Given the description of an element on the screen output the (x, y) to click on. 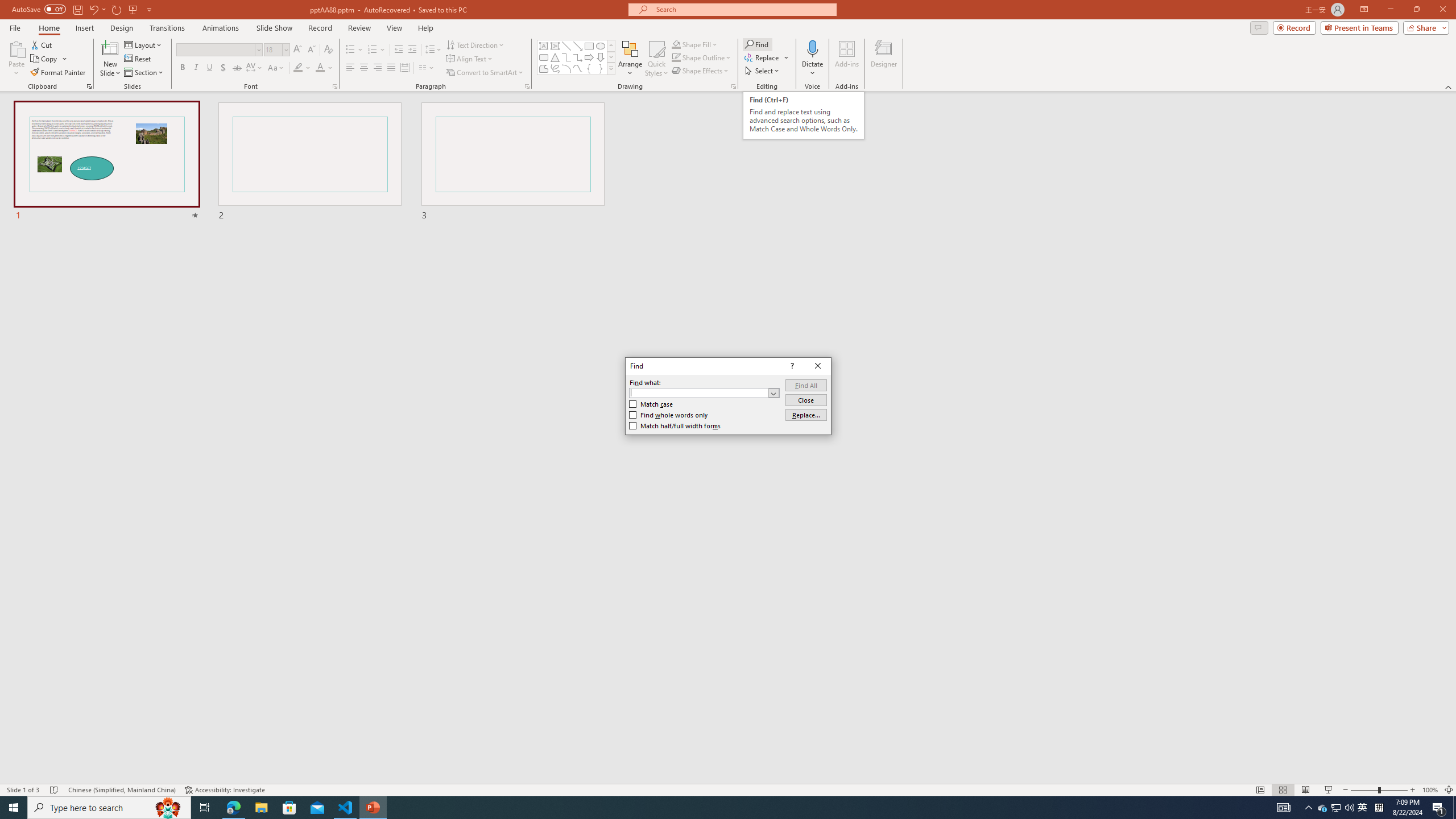
Match case (651, 403)
